Given the description of an element on the screen output the (x, y) to click on. 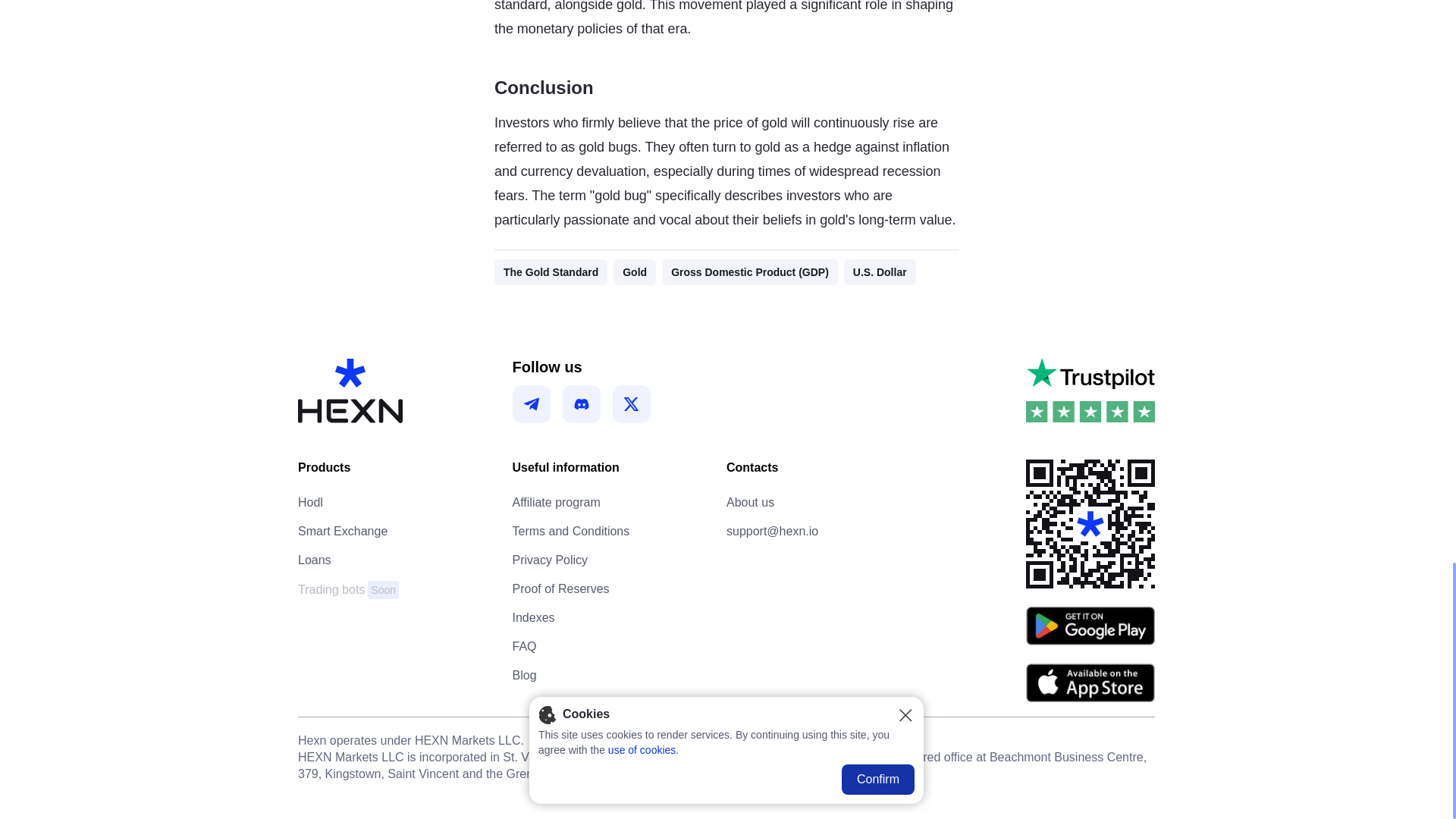
Blog (524, 675)
Terms and Conditions (571, 531)
Indexes (533, 617)
Privacy Policy (348, 589)
Hodl (550, 560)
Proof of Reserves (310, 502)
Affiliate program (561, 588)
About us (555, 502)
Smart Exchange (750, 502)
Loans (342, 531)
FAQ (314, 560)
